Given the description of an element on the screen output the (x, y) to click on. 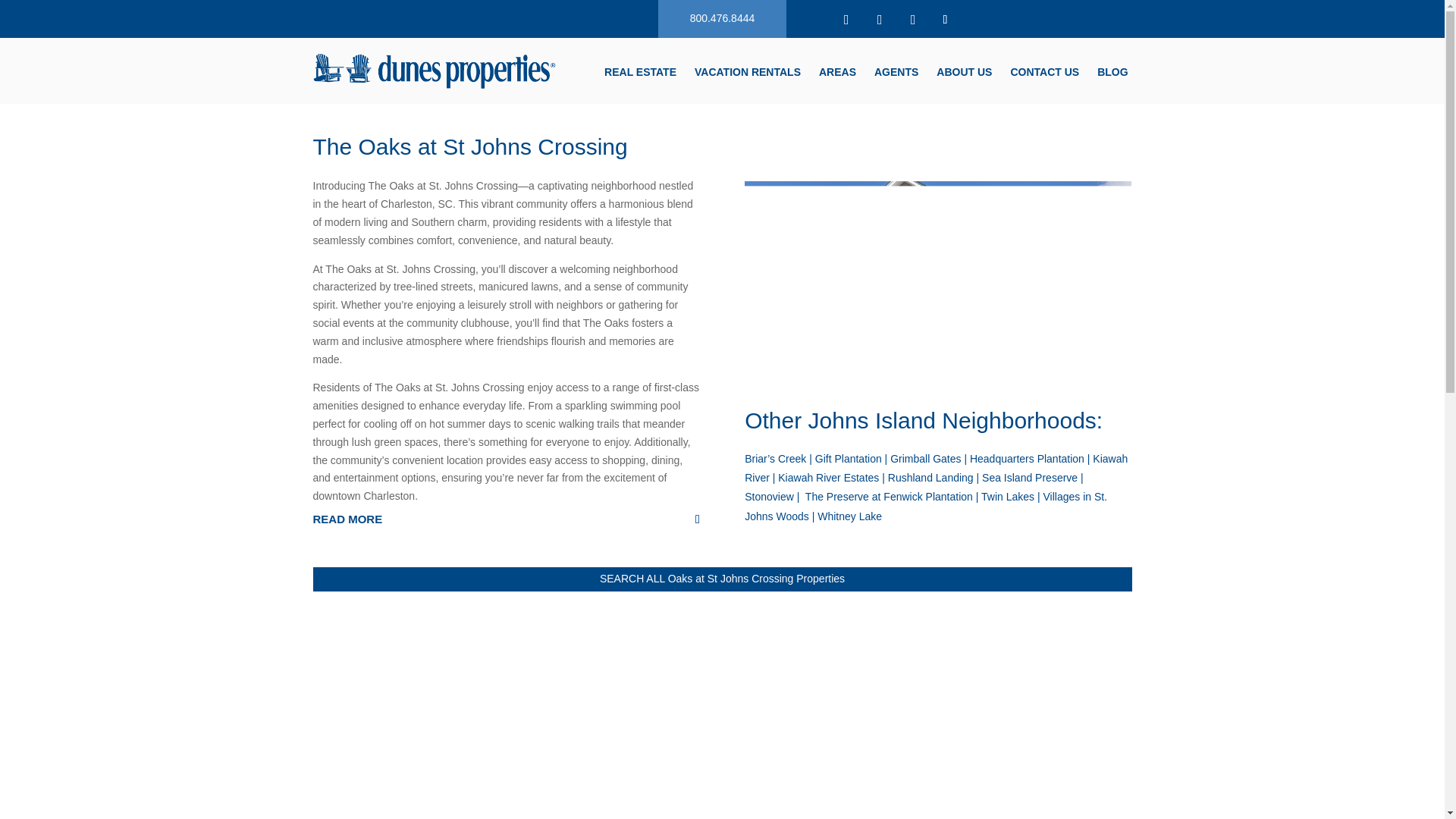
Follow on Youtube (912, 19)
Grimball Gates (924, 458)
Kiawah River Estates (828, 477)
REAL ESTATE (640, 74)
Headquarters Plantation (1026, 458)
Kiawah River (935, 468)
AREAS (837, 74)
CONTACT US (1044, 74)
Sea Island Preserve (1029, 477)
St Johns Crossing Neighborhod Page (937, 282)
